Given the description of an element on the screen output the (x, y) to click on. 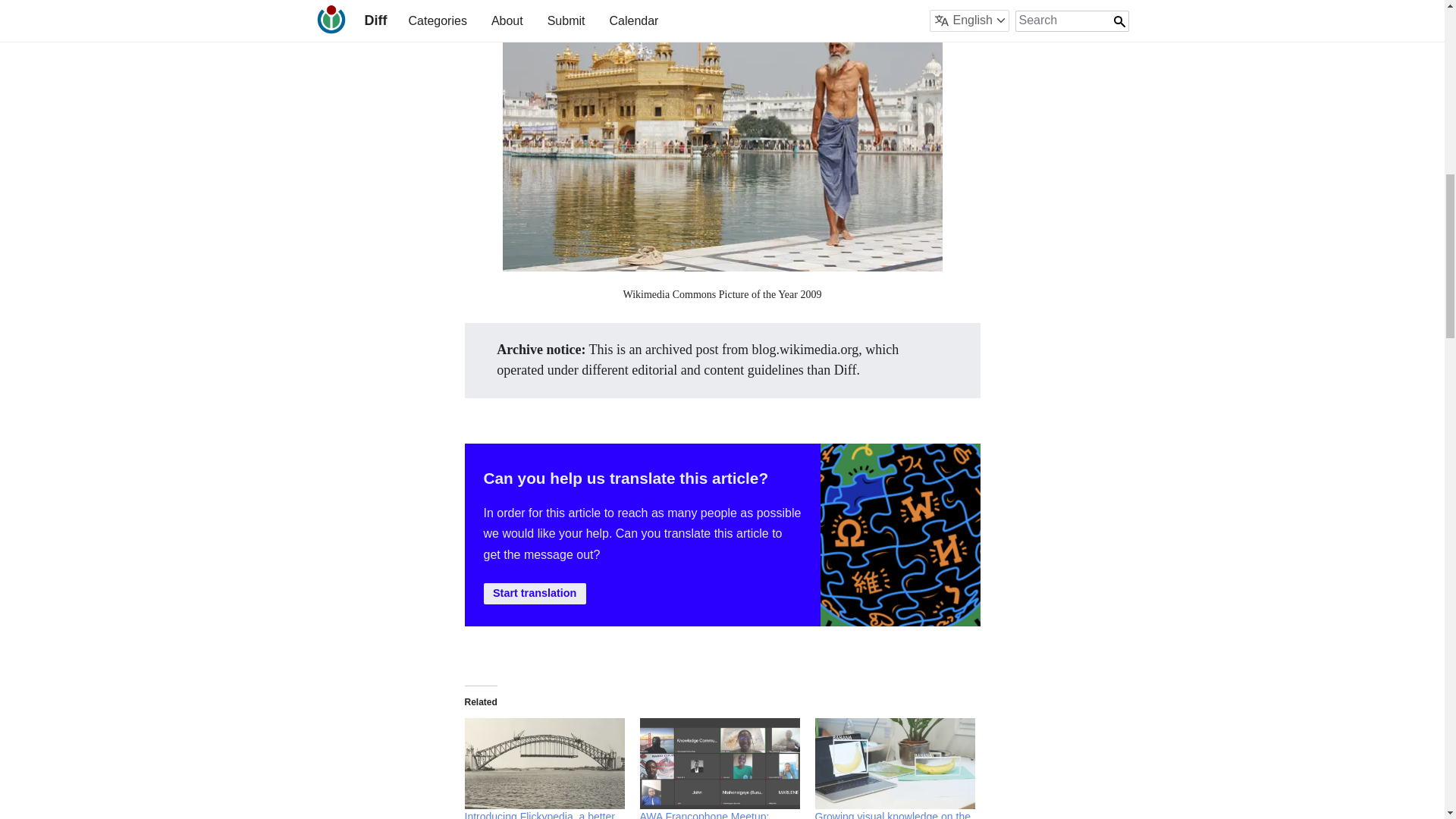
Start translation (534, 593)
